Given the description of an element on the screen output the (x, y) to click on. 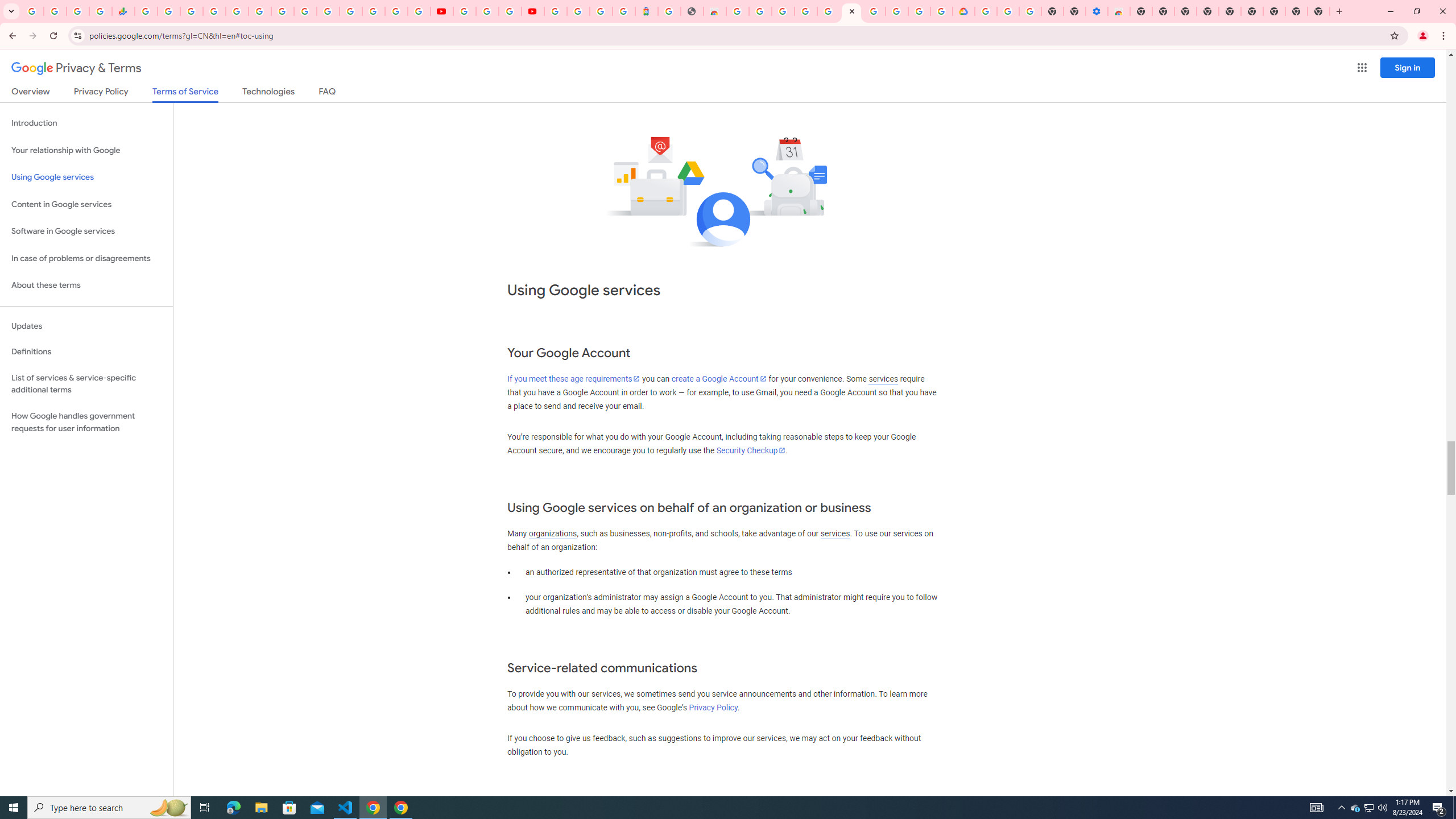
Turn cookies on or off - Computer - Google Account Help (1029, 11)
About these terms (86, 284)
Sign in - Google Accounts (328, 11)
Google Account Help (1008, 11)
New Tab (1141, 11)
services (834, 533)
YouTube (304, 11)
organizations (552, 533)
